Given the description of an element on the screen output the (x, y) to click on. 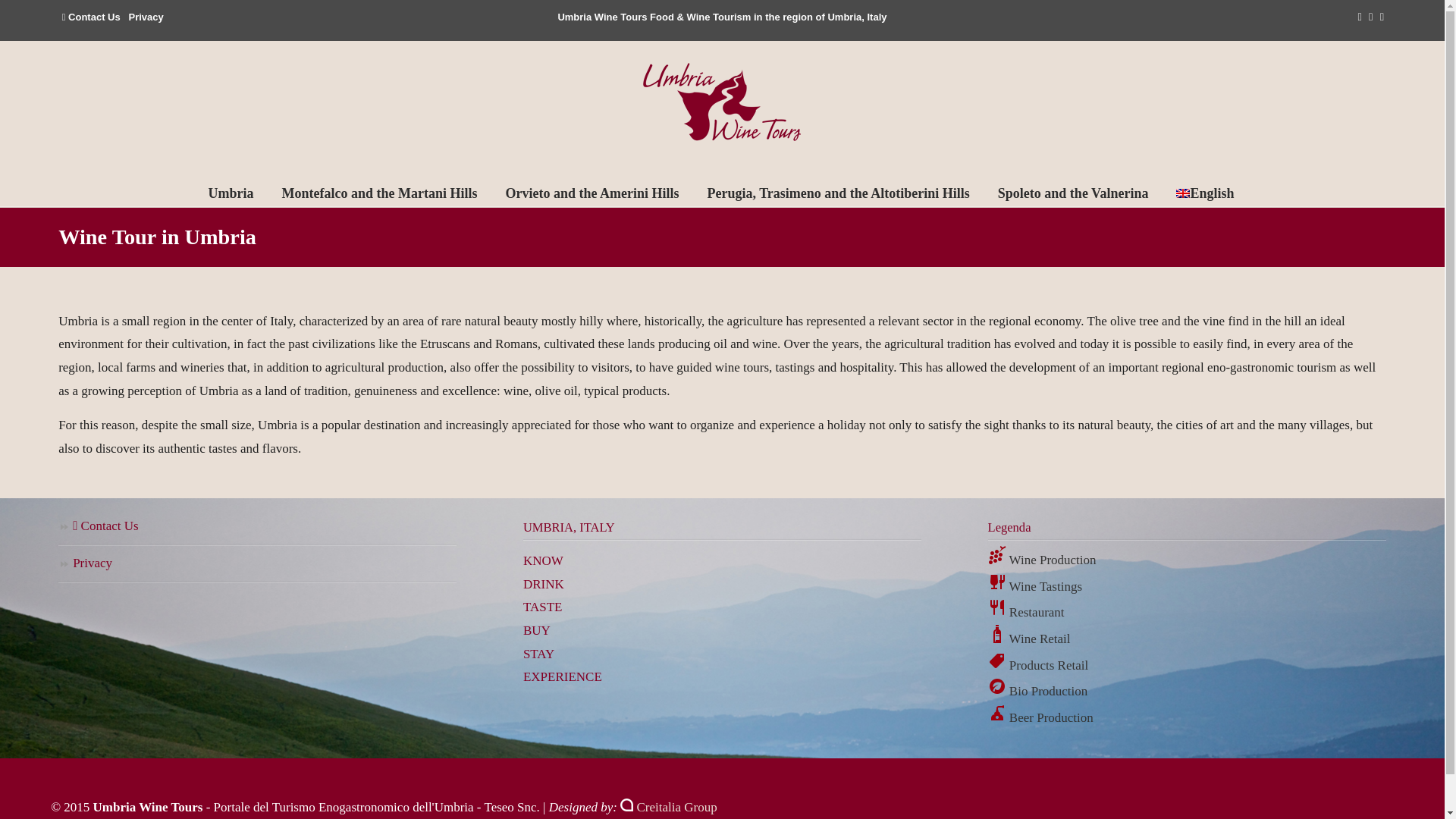
TASTE (542, 606)
Spoleto and the Valnerina (1072, 193)
Contact Us (257, 527)
STAY (538, 653)
Creitalia Group (668, 807)
BUY (536, 630)
Privacy (257, 564)
Orvieto and the Amerini Hills (591, 193)
Privacy (145, 16)
DRINK (543, 584)
Umbria Wine Tours (722, 102)
EXPERIENCE (562, 676)
Umbria (231, 193)
Montefalco and the Martani Hills (379, 193)
Umbria Wine Tours (722, 102)
